Given the description of an element on the screen output the (x, y) to click on. 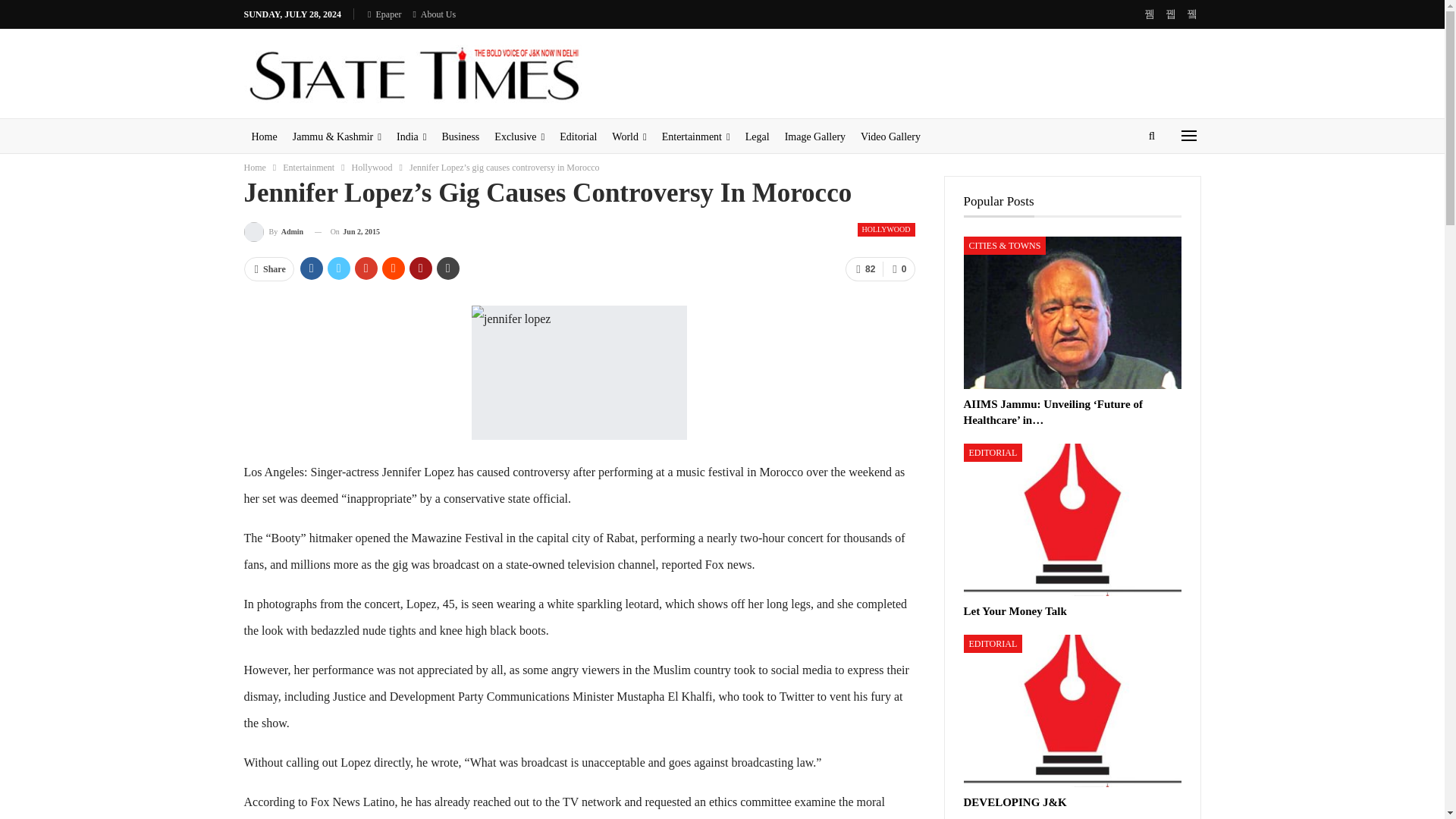
Epaper (384, 14)
